Given the description of an element on the screen output the (x, y) to click on. 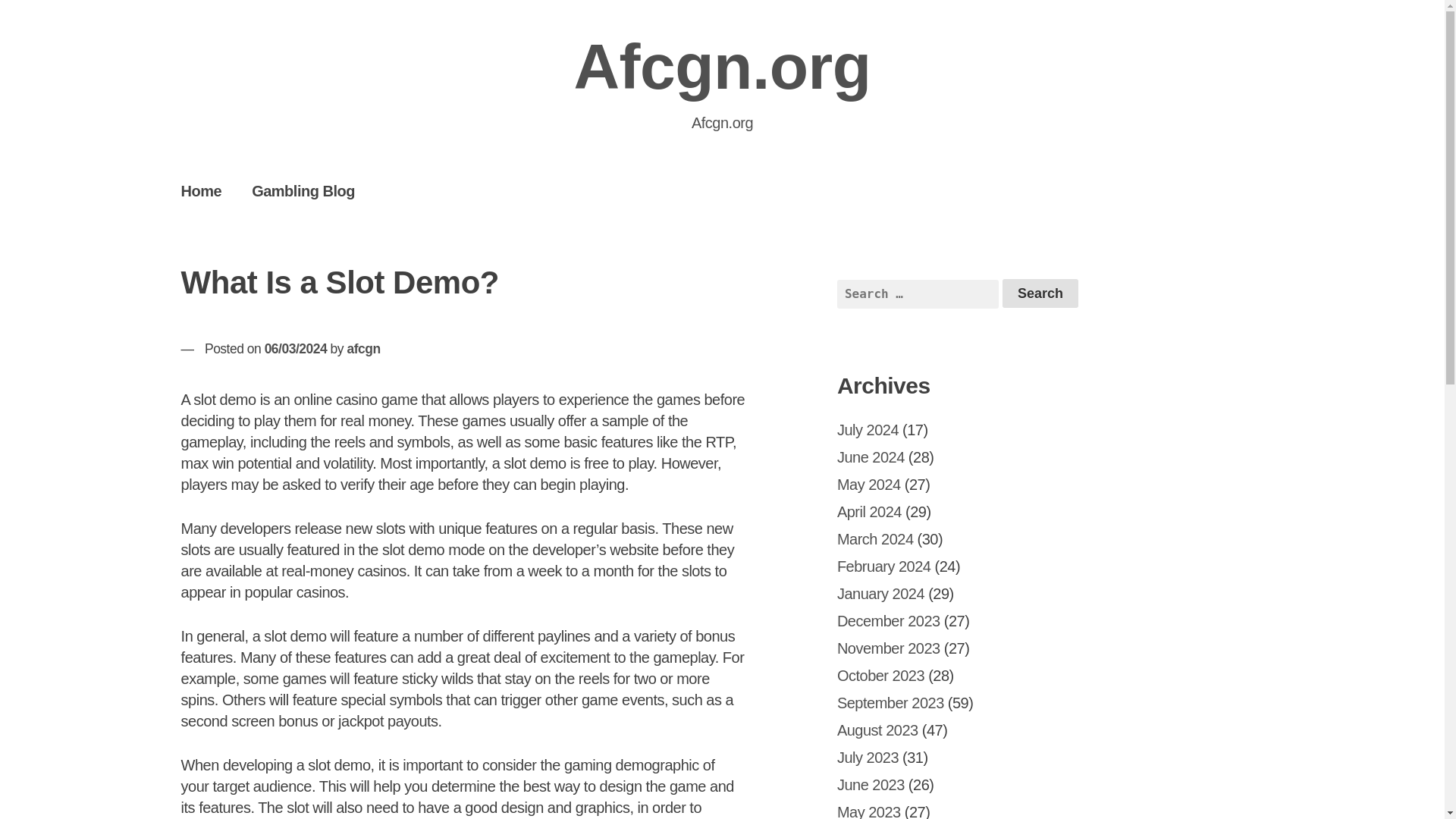
September 2023 (890, 702)
February 2024 (884, 565)
January 2024 (880, 593)
afcgn (363, 348)
Search (1040, 293)
Gambling Blog (302, 190)
Search (1040, 293)
July 2023 (867, 757)
April 2024 (869, 511)
November 2023 (888, 647)
December 2023 (888, 620)
August 2023 (877, 729)
May 2024 (869, 484)
June 2023 (870, 784)
July 2024 (867, 429)
